Given the description of an element on the screen output the (x, y) to click on. 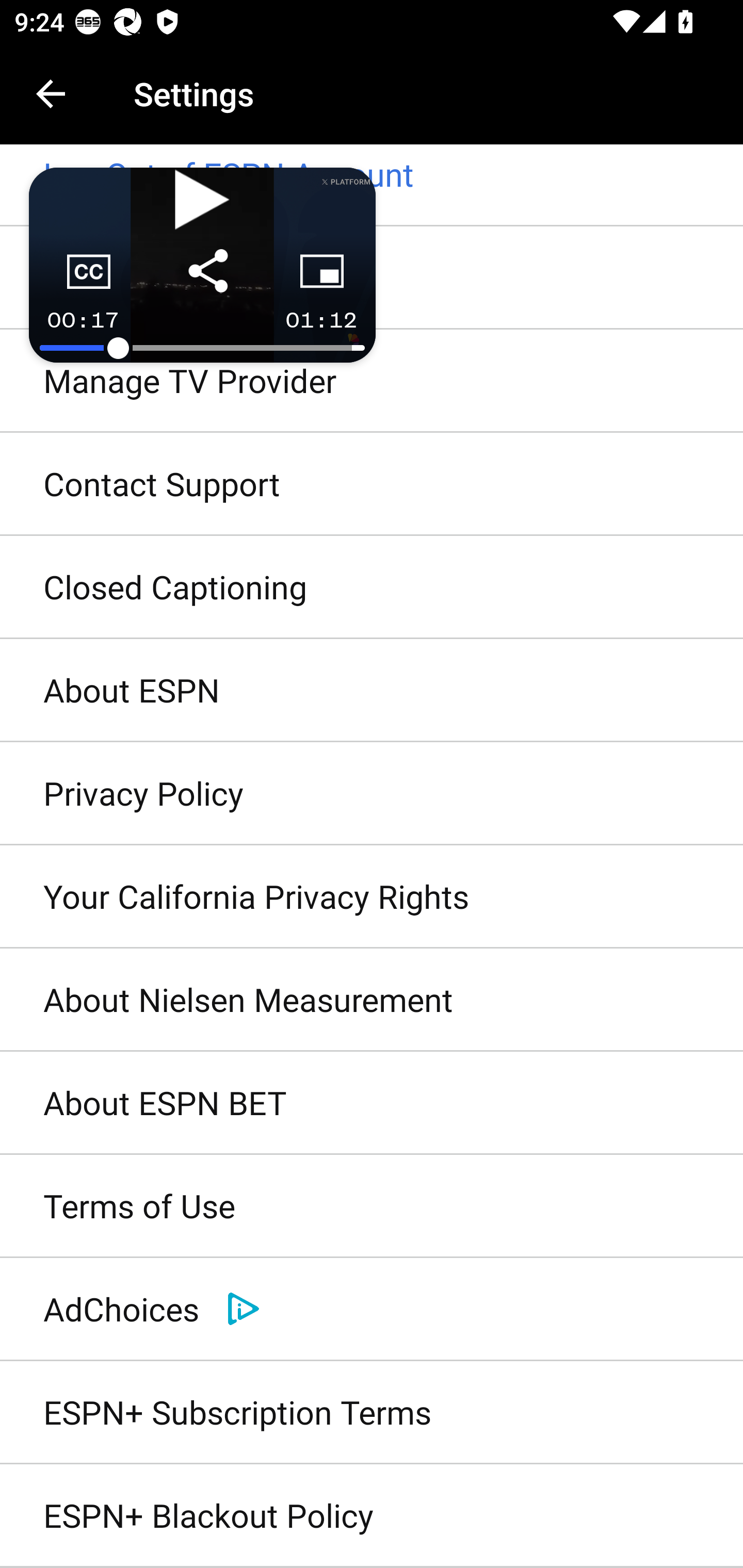
Navigate up (50, 93)
Manage TV Provider (371, 380)
Contact Support (371, 484)
Closed Captioning (371, 587)
About ESPN (371, 691)
Privacy Policy (371, 793)
Your California Privacy Rights (371, 896)
About Nielsen Measurement (371, 1000)
About ESPN BET (371, 1103)
Terms of Use (371, 1207)
AdChoices (371, 1309)
ESPN+ Subscription Terms (371, 1412)
ESPN+ Blackout Policy (371, 1516)
